Given the description of an element on the screen output the (x, y) to click on. 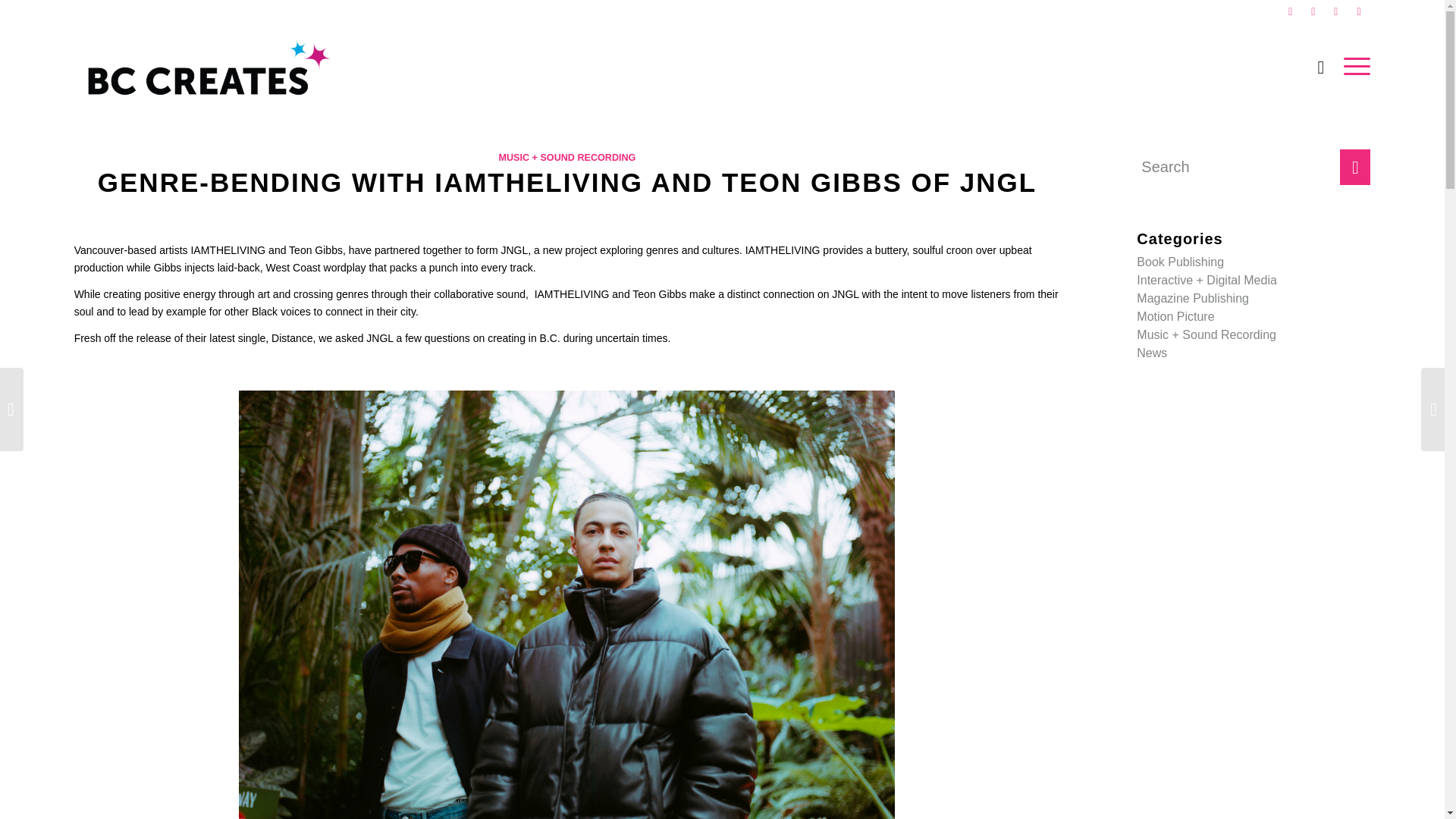
Twitter (1312, 11)
Instagram (1335, 11)
Book Publishing (1180, 261)
LinkedIn (1359, 11)
GENRE-BENDING WITH IAMTHELIVING AND TEON GIBBS OF JNGL (566, 182)
Facebook (1290, 11)
